Given the description of an element on the screen output the (x, y) to click on. 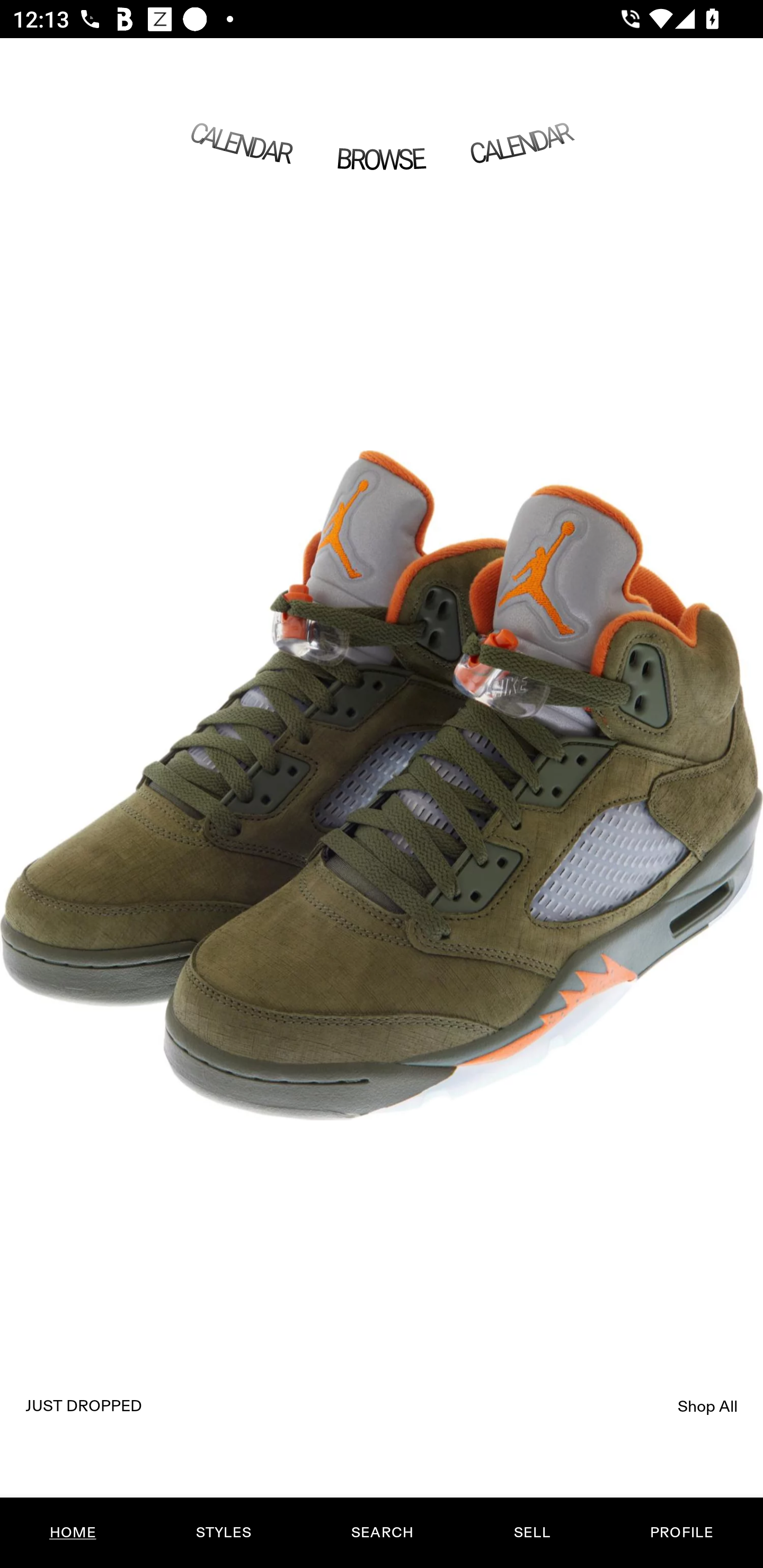
Shop All (707, 1406)
HOME (72, 1532)
STYLES (222, 1532)
SEARCH (381, 1532)
SELL (531, 1532)
PROFILE (681, 1532)
